Given the description of an element on the screen output the (x, y) to click on. 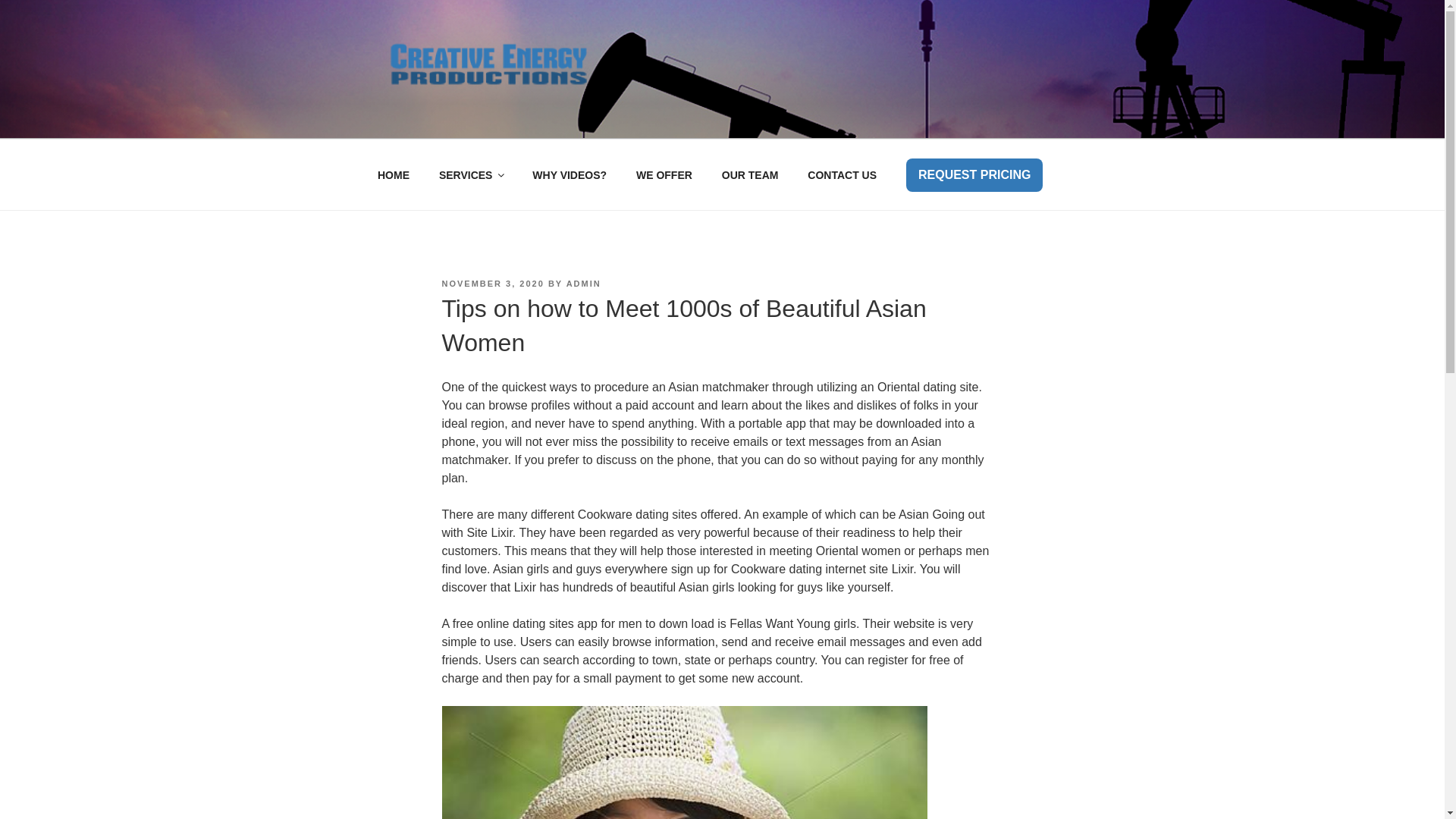
REQUEST PRICING (973, 174)
CONTACT US (841, 174)
OUR TEAM (749, 174)
HOME (393, 174)
WHY VIDEOS? (569, 174)
SERVICES (470, 174)
ADMIN (583, 283)
WE OFFER (663, 174)
REQUEST PRICING (973, 174)
NOVEMBER 3, 2020 (492, 283)
